Given the description of an element on the screen output the (x, y) to click on. 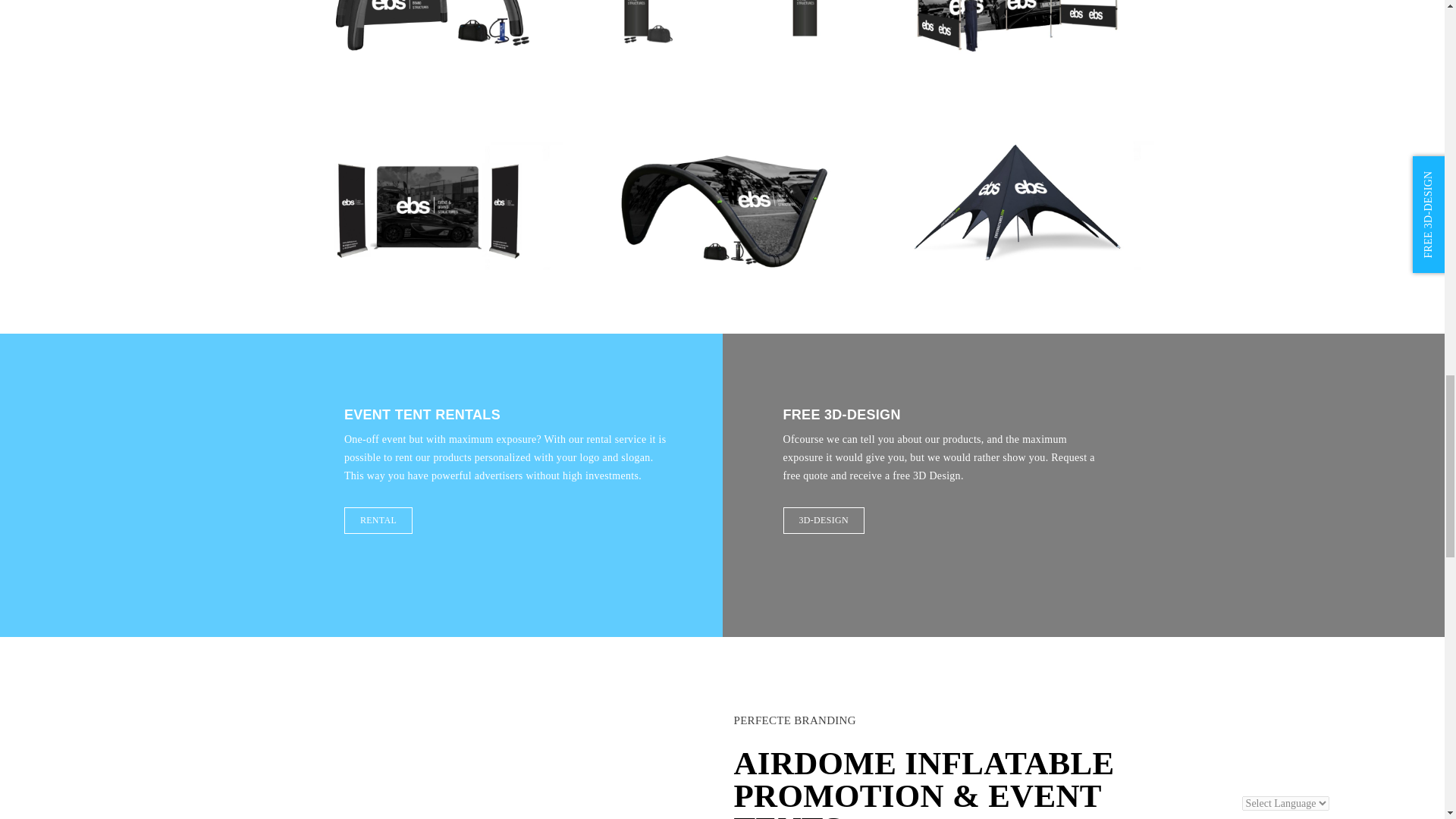
Bekijken (1017, 217)
Bekijken (425, 4)
RENTAL (377, 519)
Bekijken (425, 217)
Bekijken (1017, 4)
Bekijken (721, 217)
Bekijken (721, 4)
